Given the description of an element on the screen output the (x, y) to click on. 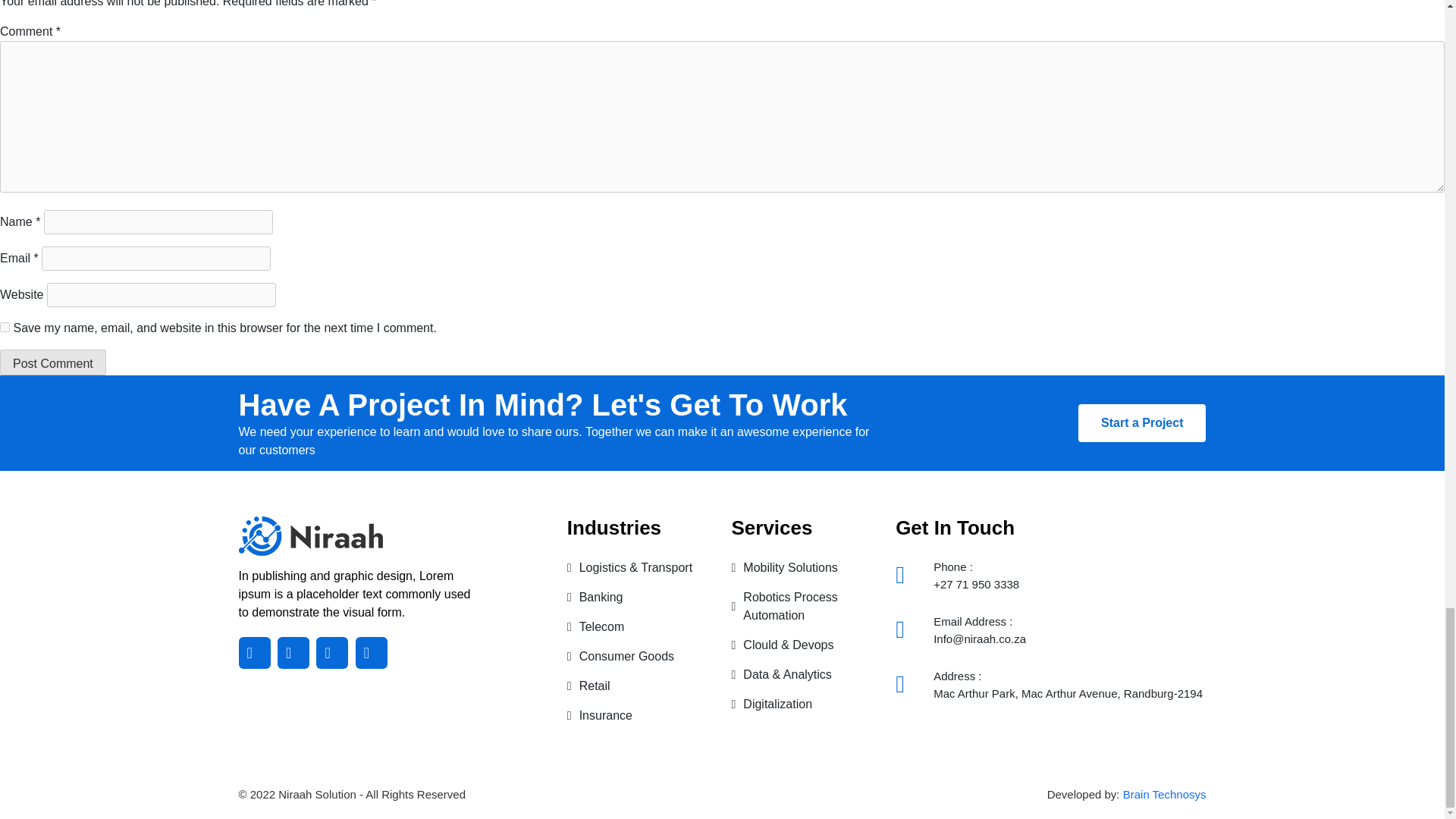
Start a Project (1141, 423)
yes (5, 327)
Post Comment (53, 362)
Post Comment (53, 362)
